Given the description of an element on the screen output the (x, y) to click on. 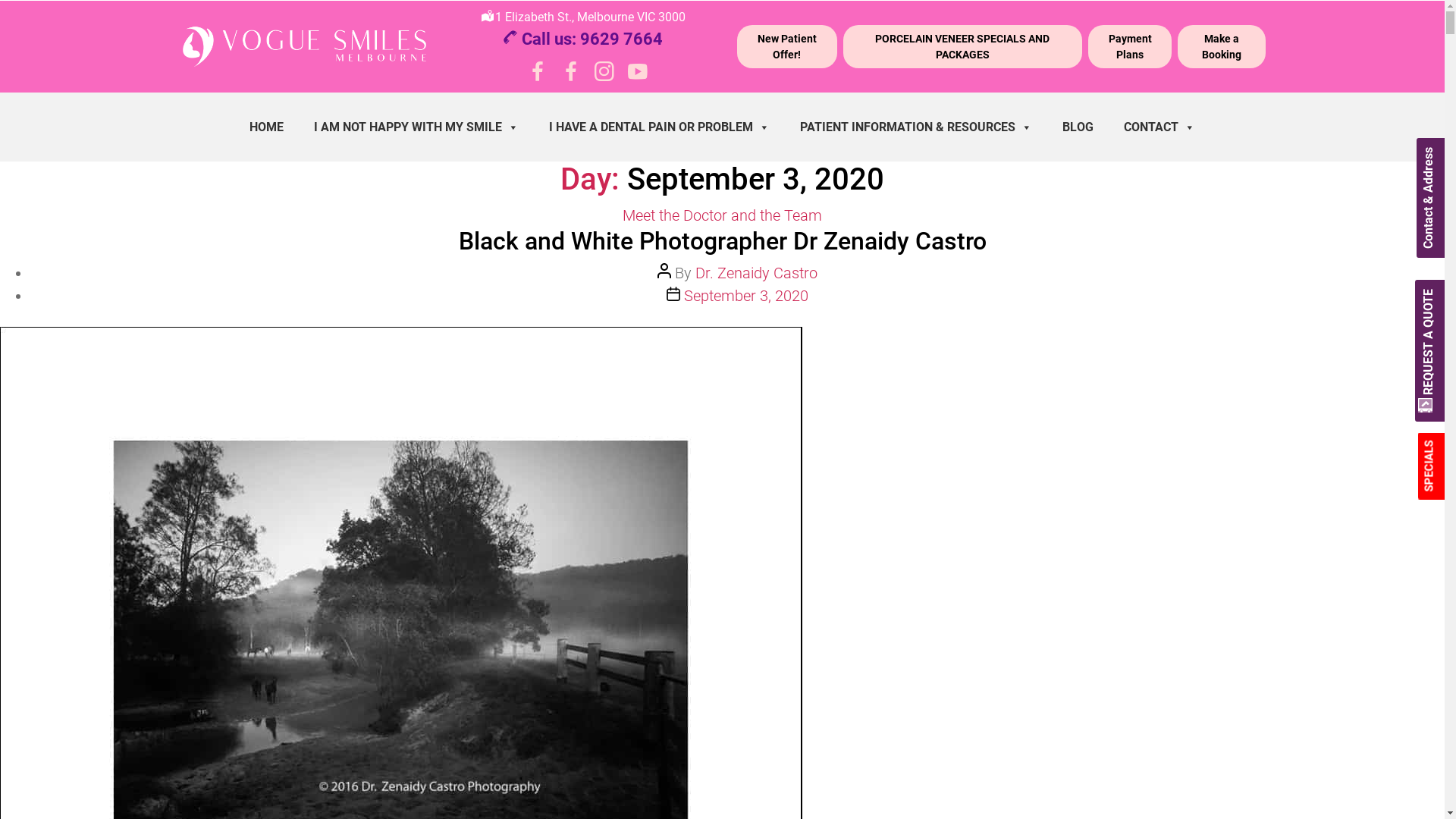
Black and White Photographer Dr Zenaidy Castro Element type: text (721, 240)
I HAVE A DENTAL PAIN OR PROBLEM Element type: text (658, 127)
BLOG Element type: text (1077, 127)
Meet the Doctor and the Team Element type: text (722, 215)
Payment Plans Element type: text (1129, 46)
New Patient Offer! Element type: text (787, 46)
PORCELAIN VENEER SPECIALS AND PACKAGES Element type: text (962, 46)
Dr. Zenaidy Castro Element type: text (756, 272)
Make a Booking Element type: text (1220, 46)
CONTACT Element type: text (1159, 127)
September 3, 2020 Element type: text (746, 295)
PATIENT INFORMATION & RESOURCES Element type: text (915, 127)
HOME Element type: text (266, 127)
I AM NOT HAPPY WITH MY SMILE Element type: text (415, 127)
